Given the description of an element on the screen output the (x, y) to click on. 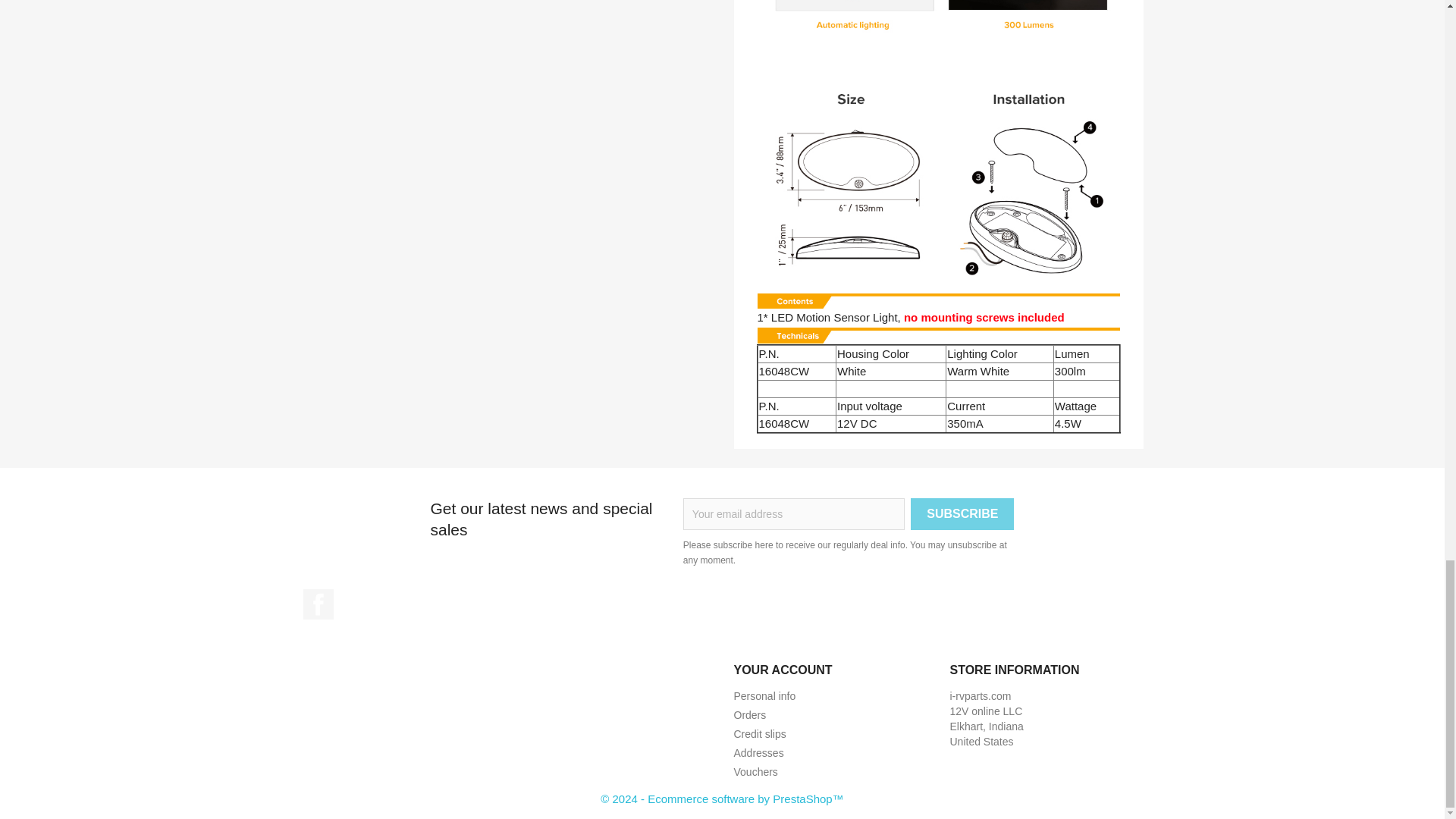
Credit slips (759, 734)
Vouchers (755, 771)
Subscribe (962, 513)
Credit slips (759, 734)
YOUR ACCOUNT (782, 669)
Personal info (764, 695)
Vouchers (755, 771)
Addresses (758, 752)
Orders (750, 715)
Personal info (764, 695)
